Given the description of an element on the screen output the (x, y) to click on. 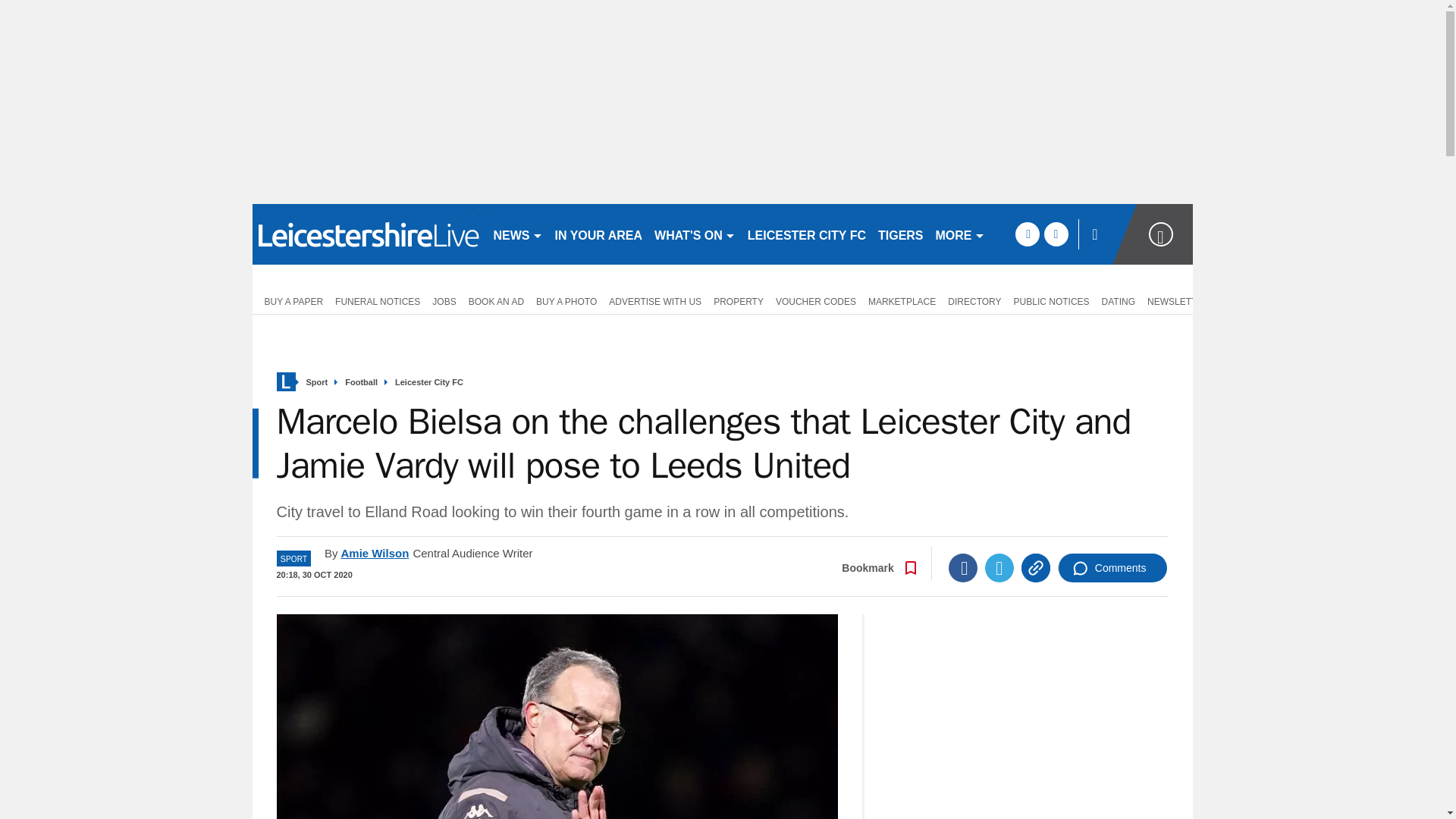
NEWS (517, 233)
facebook (1026, 233)
Comments (1112, 567)
TIGERS (901, 233)
Facebook (962, 567)
twitter (1055, 233)
WHAT'S ON (694, 233)
MORE (960, 233)
Twitter (999, 567)
LEICESTER CITY FC (806, 233)
IN YOUR AREA (598, 233)
leicestermercury (365, 233)
